Given the description of an element on the screen output the (x, y) to click on. 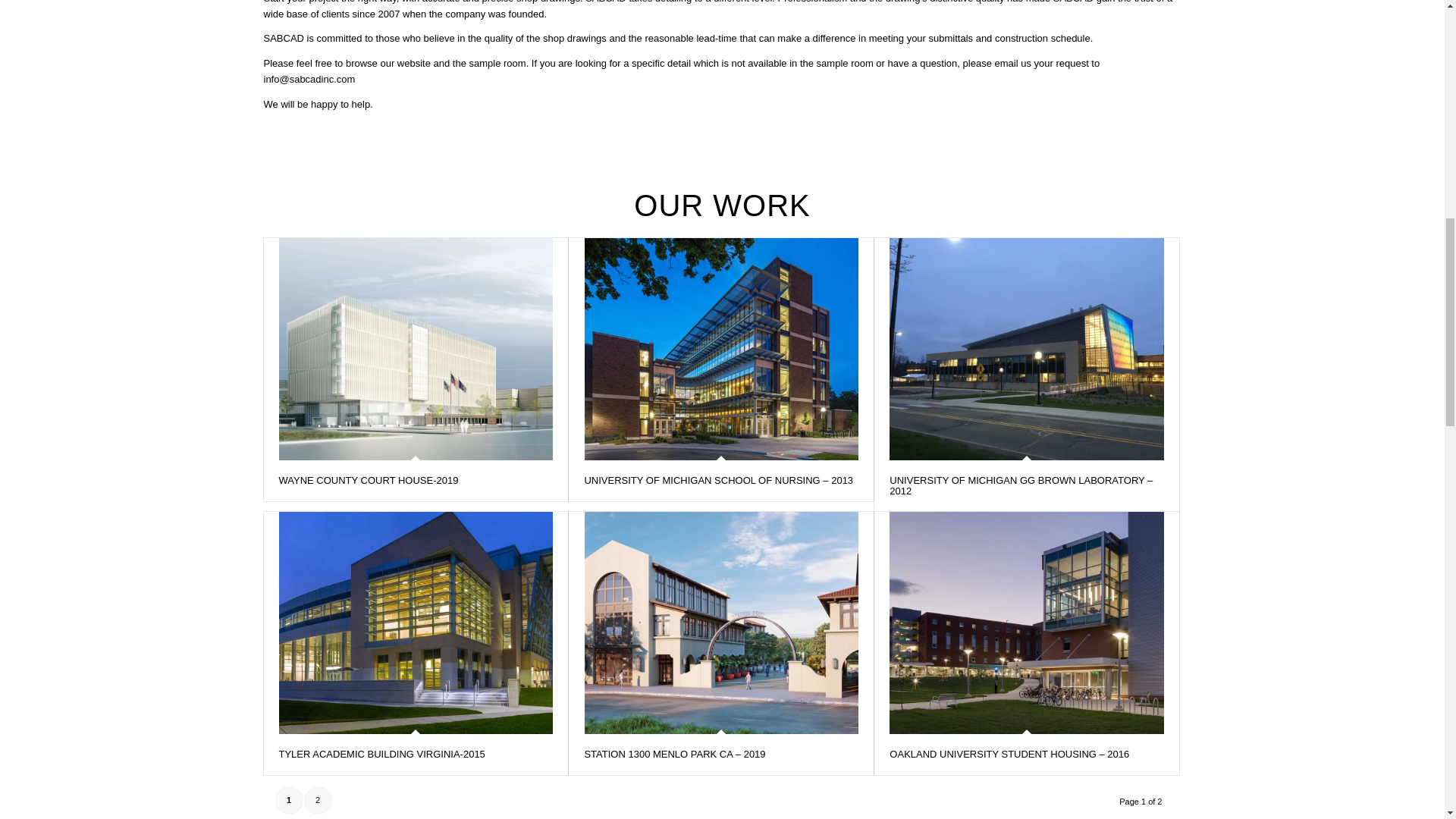
2 (317, 800)
TYLER ACADEMIC BUILDING VIRGINIA-2015 (381, 754)
WAYNE COUNTY COURT HOUSE-2019 (368, 480)
TYLER ACADEMIC BUILDING VIRGINIA-2015 (381, 754)
TYLER ACADEMIC BUILDING VIRGINIA-2015 (416, 622)
WAYNE COUNTY COURT HOUSE-2019 (368, 480)
WAYNE COUNTY COURT HOUSE-2019 (416, 348)
